Given the description of an element on the screen output the (x, y) to click on. 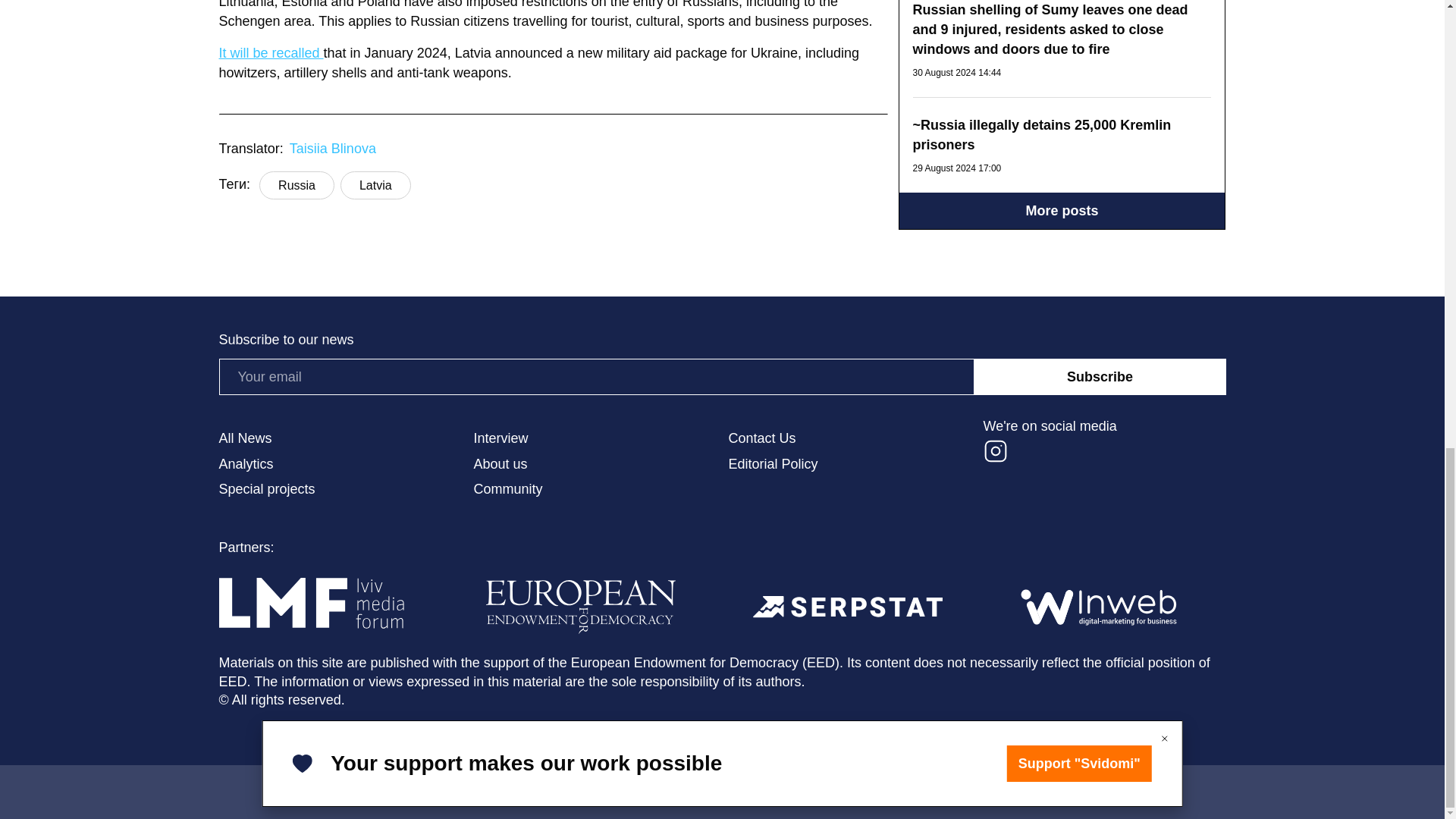
Special projects (339, 489)
Analytics (339, 463)
Russia (296, 185)
Taisiia Blinova (332, 150)
Latvia (375, 185)
Subscribe (1099, 376)
Interview (594, 438)
About us (594, 463)
All News (339, 438)
Contact Us (849, 438)
